Given the description of an element on the screen output the (x, y) to click on. 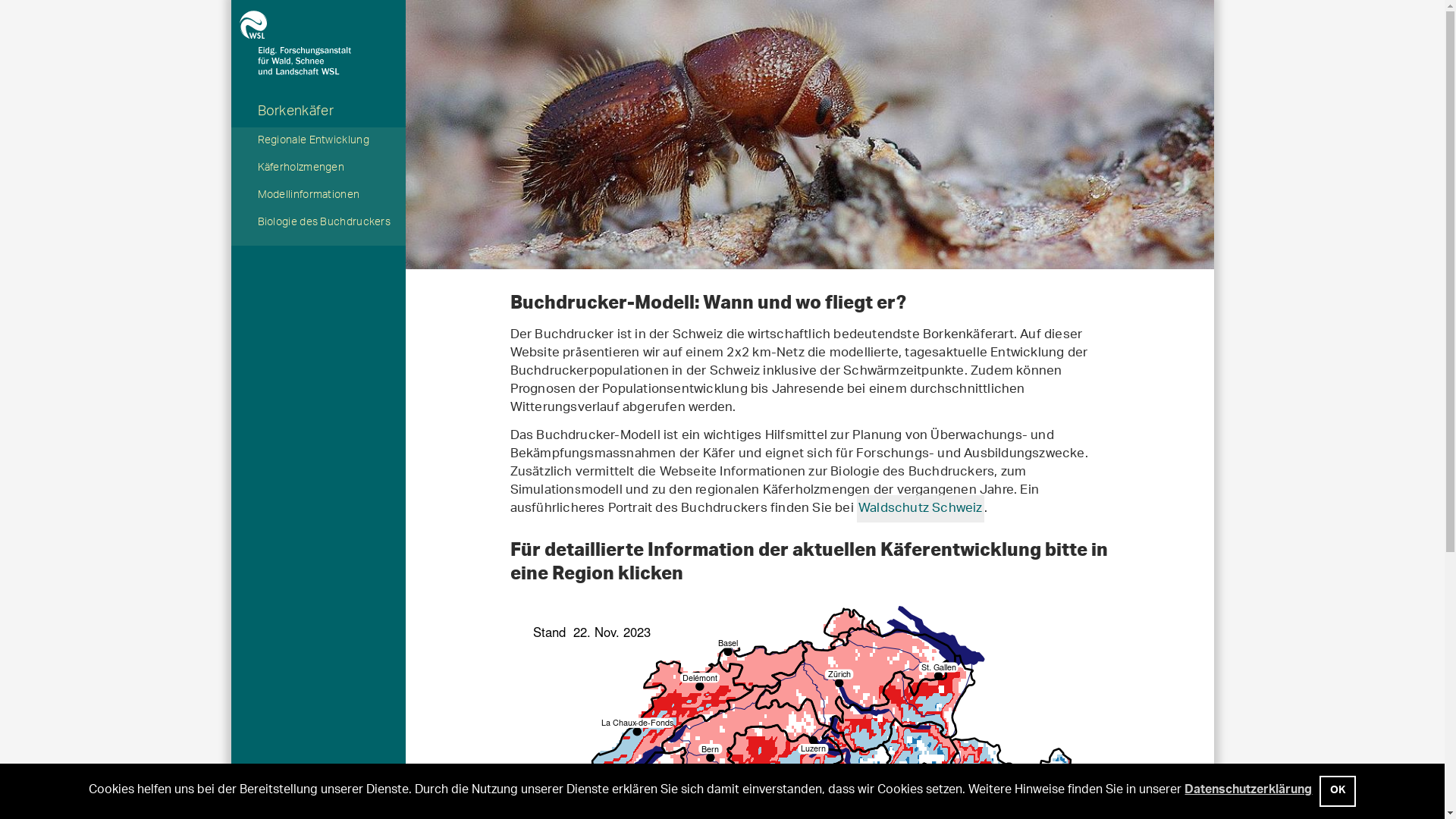
twitter Element type: text (559, 799)
youtube Element type: text (526, 799)
biedermann borkenkaefer Element type: hover (808, 134)
Modellinformationen Element type: text (317, 196)
Waldschutz Schweiz Element type: text (920, 508)
Deutsch Element type: text (305, 799)
OK Element type: text (1337, 790)
Regionale Entwicklung Element type: text (317, 141)
WSL Logo Element type: hover (318, 24)
Biologie des Buchdruckers Element type: text (317, 223)
facebook Element type: text (589, 799)
Rechtliches Element type: text (454, 798)
Kontakt Element type: text (398, 798)
